Given the description of an element on the screen output the (x, y) to click on. 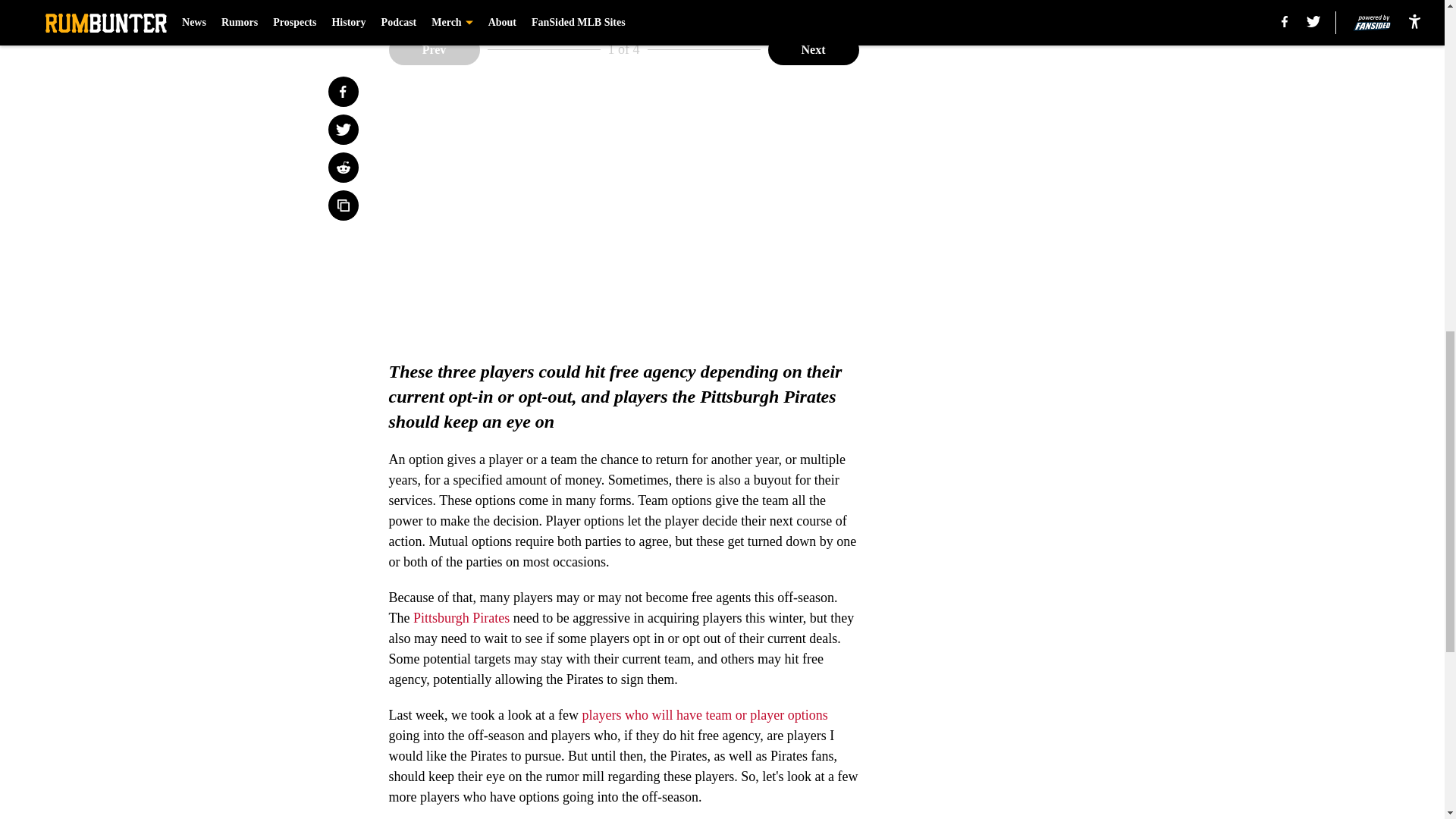
Prev (433, 50)
Pittsburgh Pirates (461, 617)
Next (813, 50)
players who will have team or player options (703, 714)
